Given the description of an element on the screen output the (x, y) to click on. 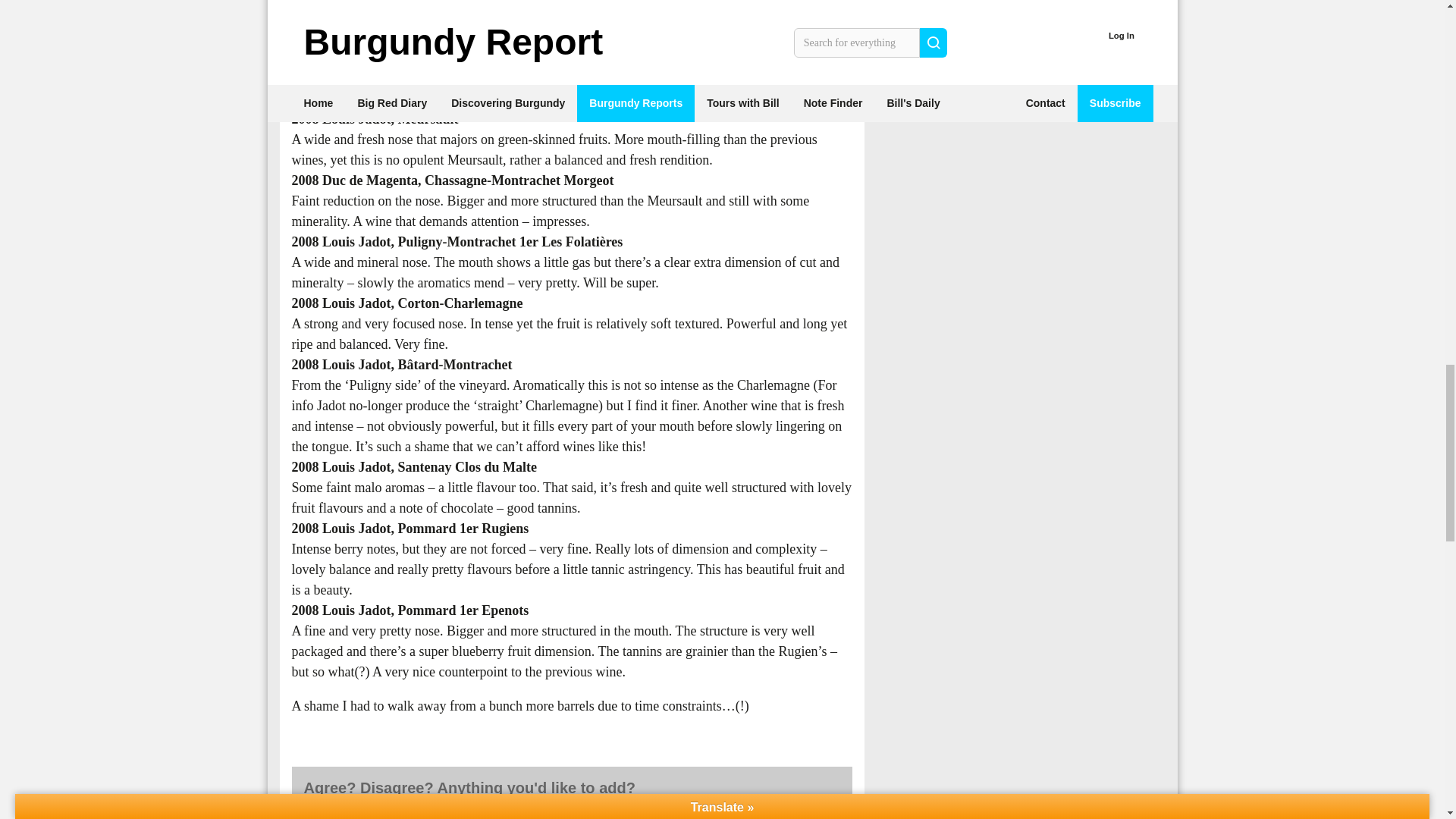
Comment Form (571, 814)
